Given the description of an element on the screen output the (x, y) to click on. 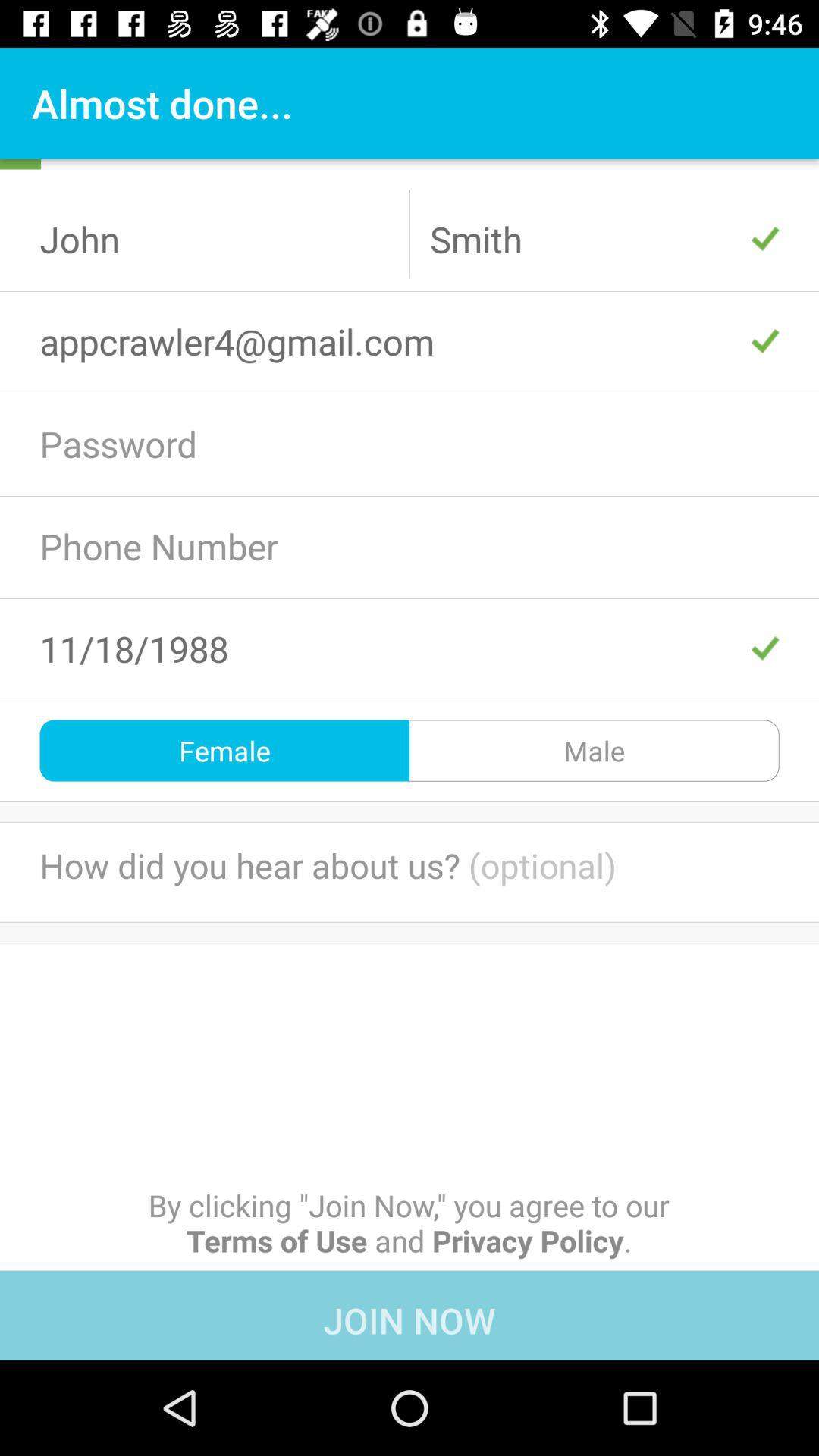
select female item (224, 750)
